Given the description of an element on the screen output the (x, y) to click on. 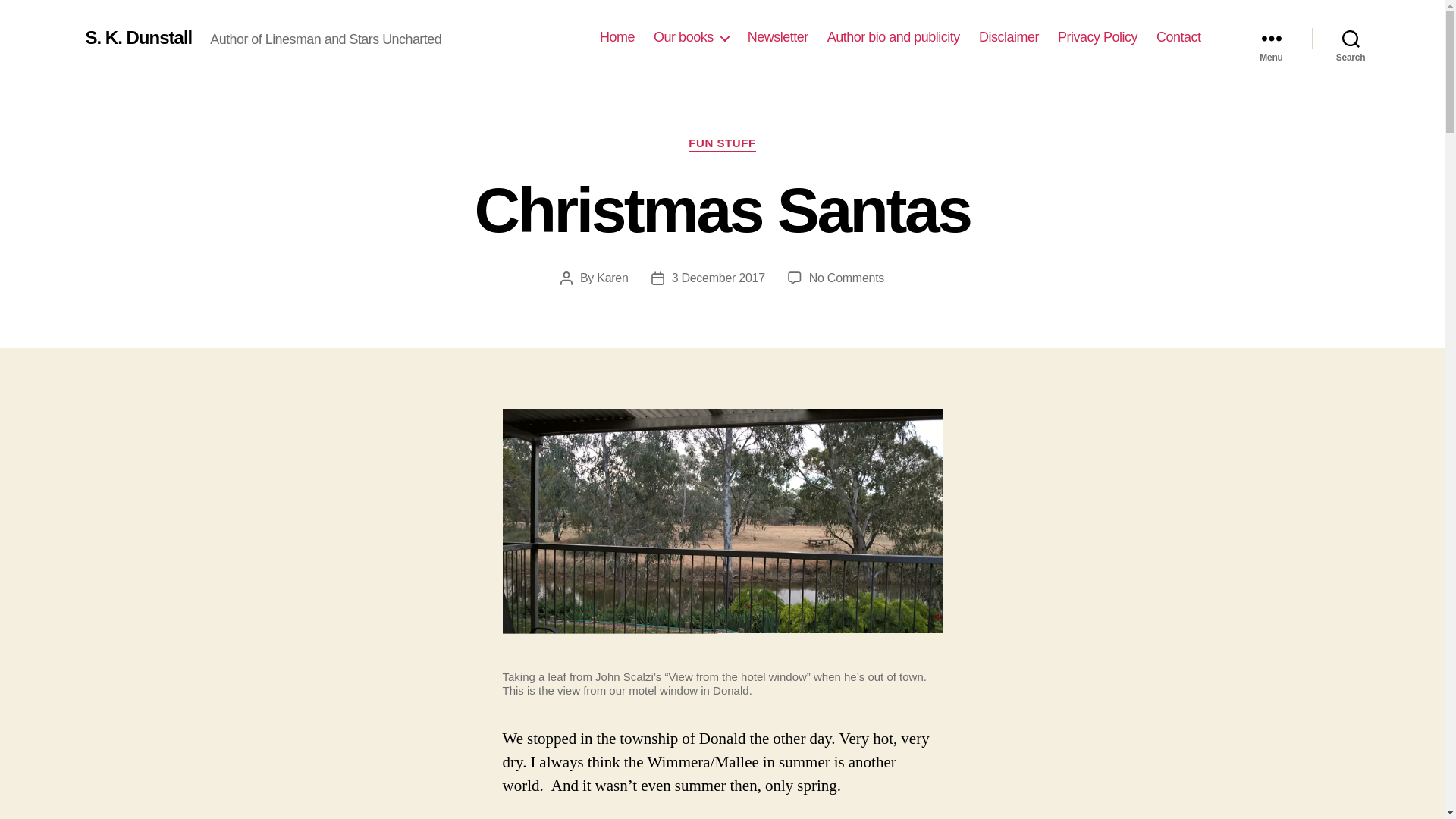
Author bio and publicity (893, 37)
Disclaimer (1008, 37)
Newsletter (778, 37)
Search (1350, 37)
Contact (1178, 37)
Home (616, 37)
Our books (691, 37)
S. K. Dunstall (138, 37)
Privacy Policy (1097, 37)
Menu (1271, 37)
